Given the description of an element on the screen output the (x, y) to click on. 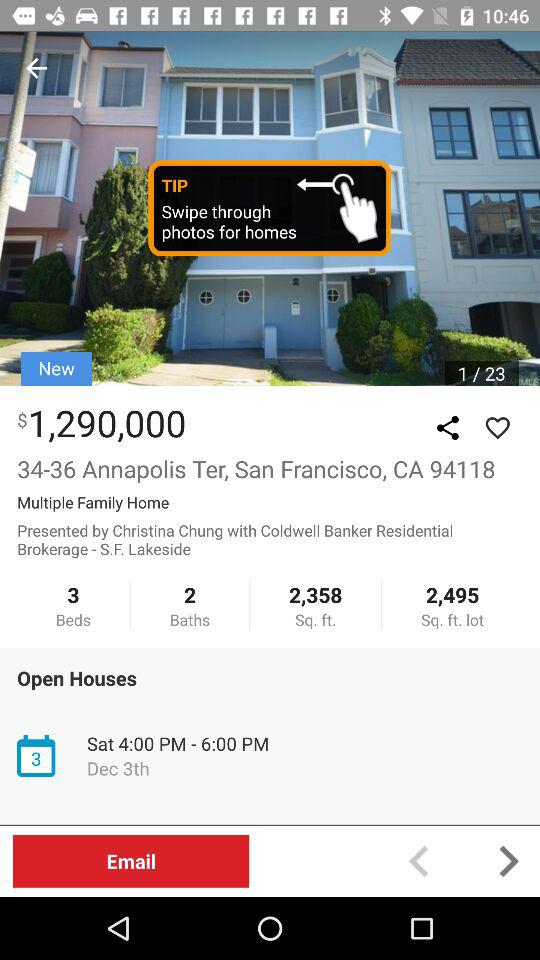
go to previous (418, 860)
